Given the description of an element on the screen output the (x, y) to click on. 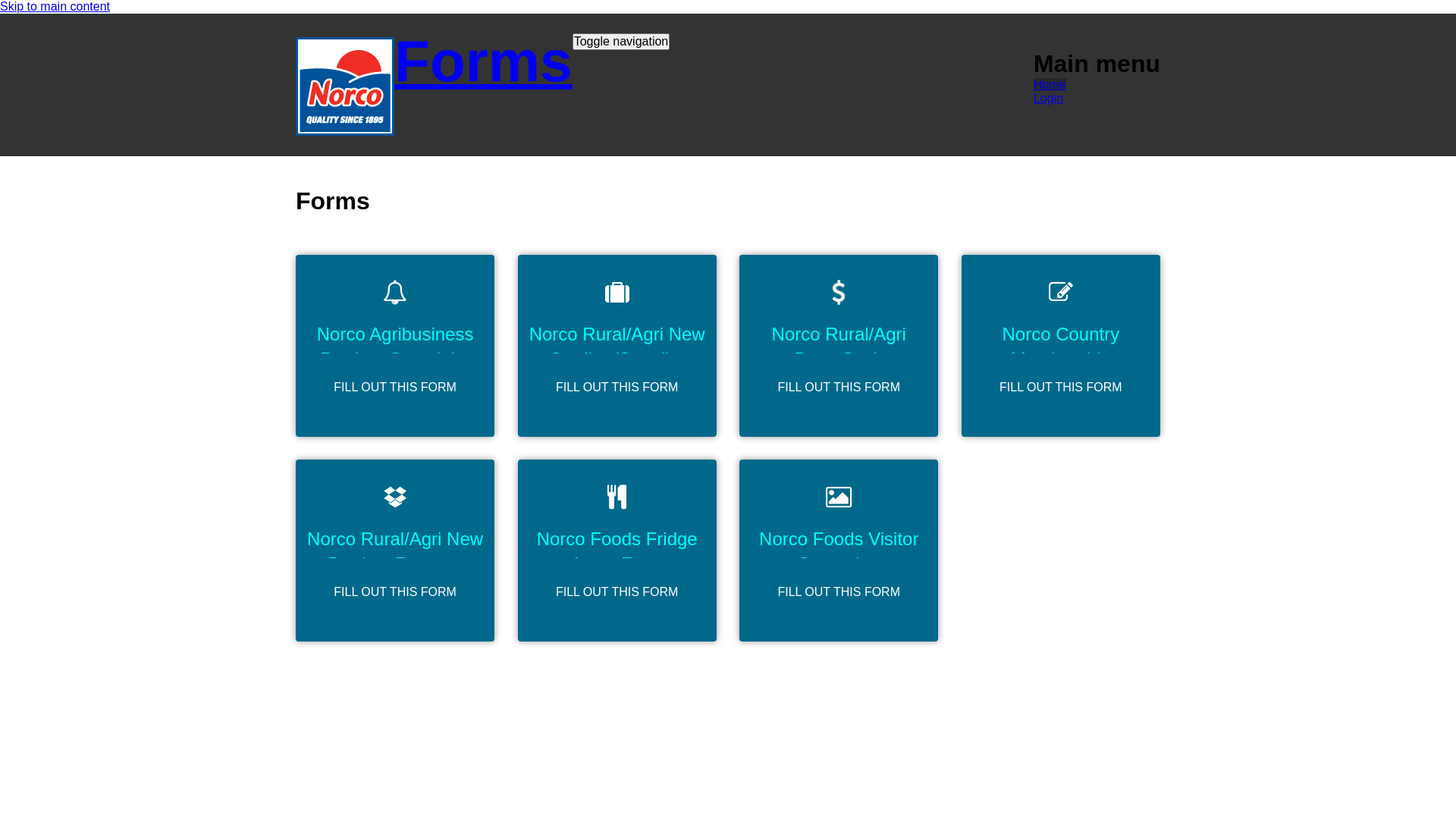
FILL OUT THIS FORM Element type: text (839, 591)
Login Element type: text (1048, 97)
FILL OUT THIS FORM Element type: text (394, 591)
Toggle navigation Element type: text (621, 41)
FILL OUT THIS FORM Element type: text (1060, 387)
Home Element type: text (1049, 84)
Skip to main content Element type: text (54, 6)
Home Element type: hover (344, 125)
Forms Element type: text (483, 60)
FILL OUT THIS FORM Element type: text (616, 387)
FILL OUT THIS FORM Element type: text (616, 591)
FILL OUT THIS FORM Element type: text (839, 387)
FILL OUT THIS FORM Element type: text (394, 387)
